Given the description of an element on the screen output the (x, y) to click on. 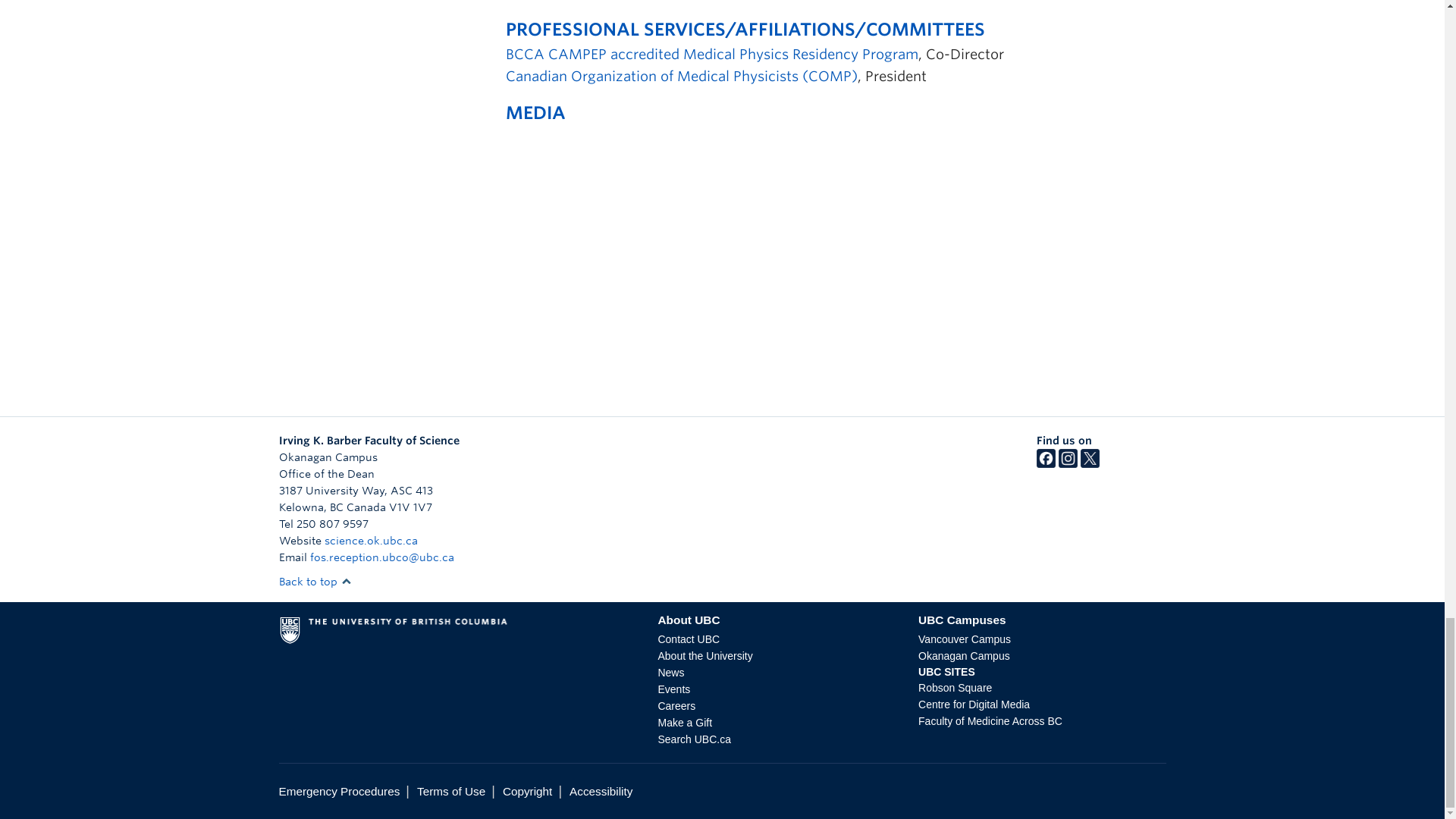
Facebook icon (1045, 463)
Twitter icon (1089, 463)
COMP (681, 75)
UBC Copyright (526, 790)
Back to top (315, 581)
Emergency Procedures (339, 790)
Terms of Use (450, 790)
Accessibility (600, 790)
Instagram icon (1067, 463)
